Given the description of an element on the screen output the (x, y) to click on. 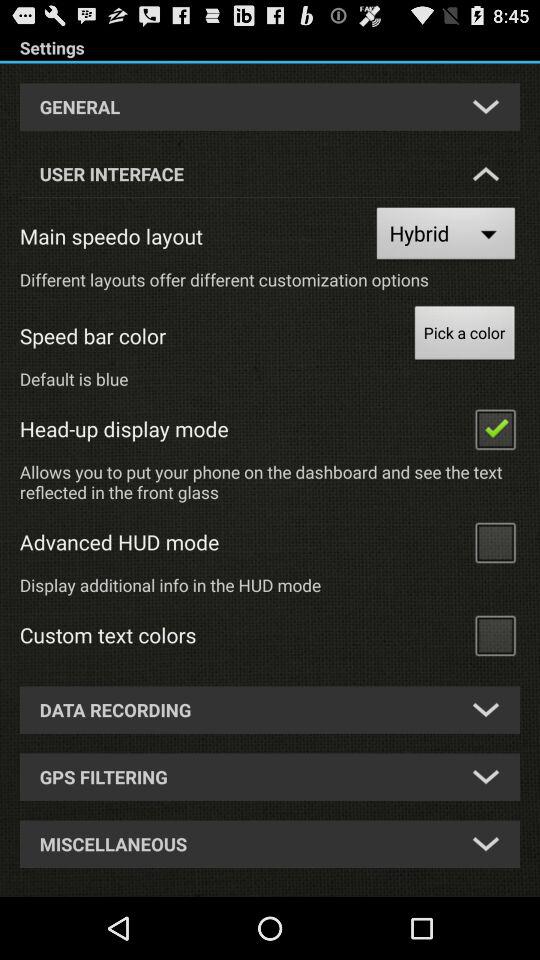
select the pick a color item (464, 335)
